Given the description of an element on the screen output the (x, y) to click on. 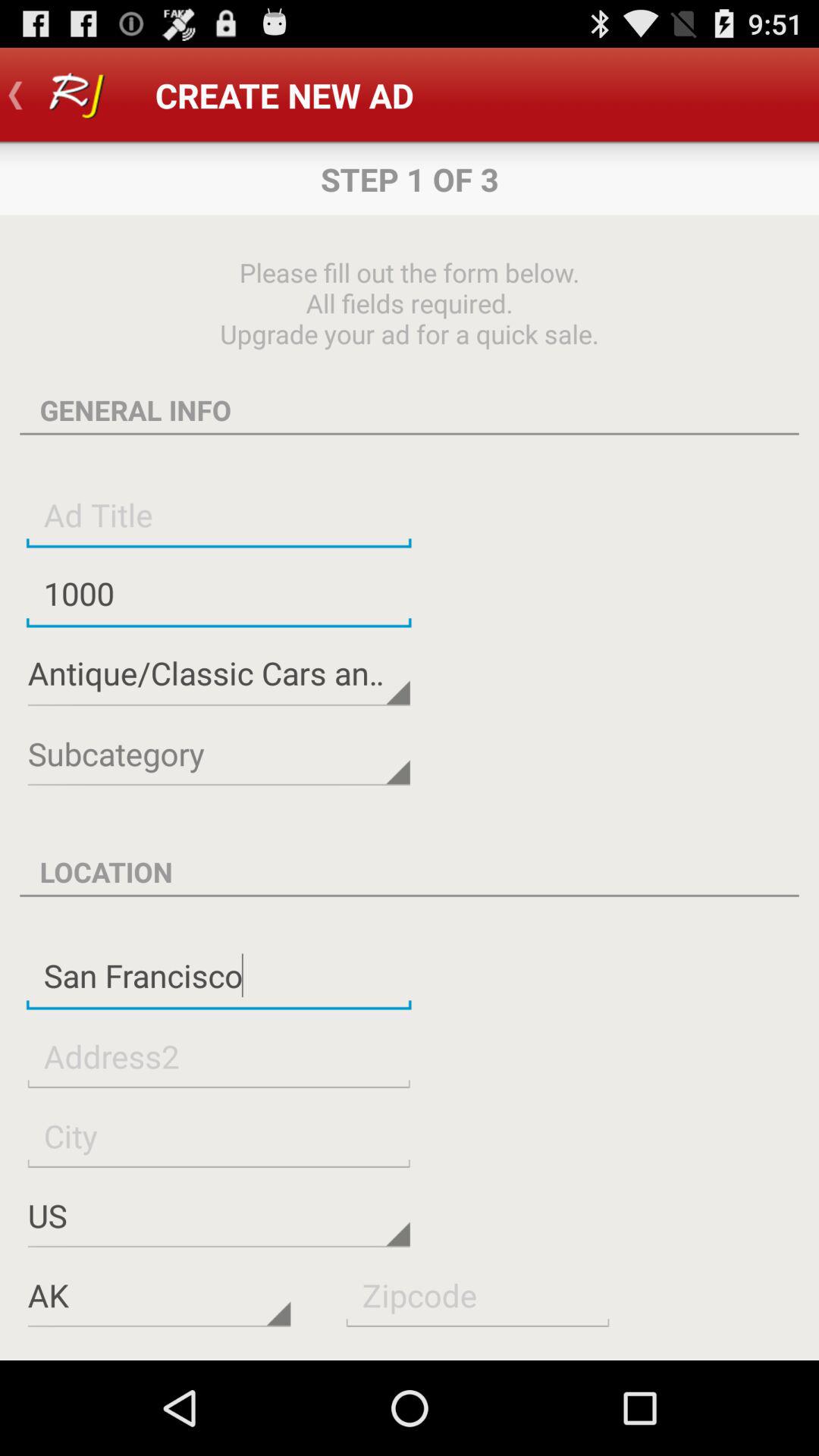
enter city (218, 1135)
